Given the description of an element on the screen output the (x, y) to click on. 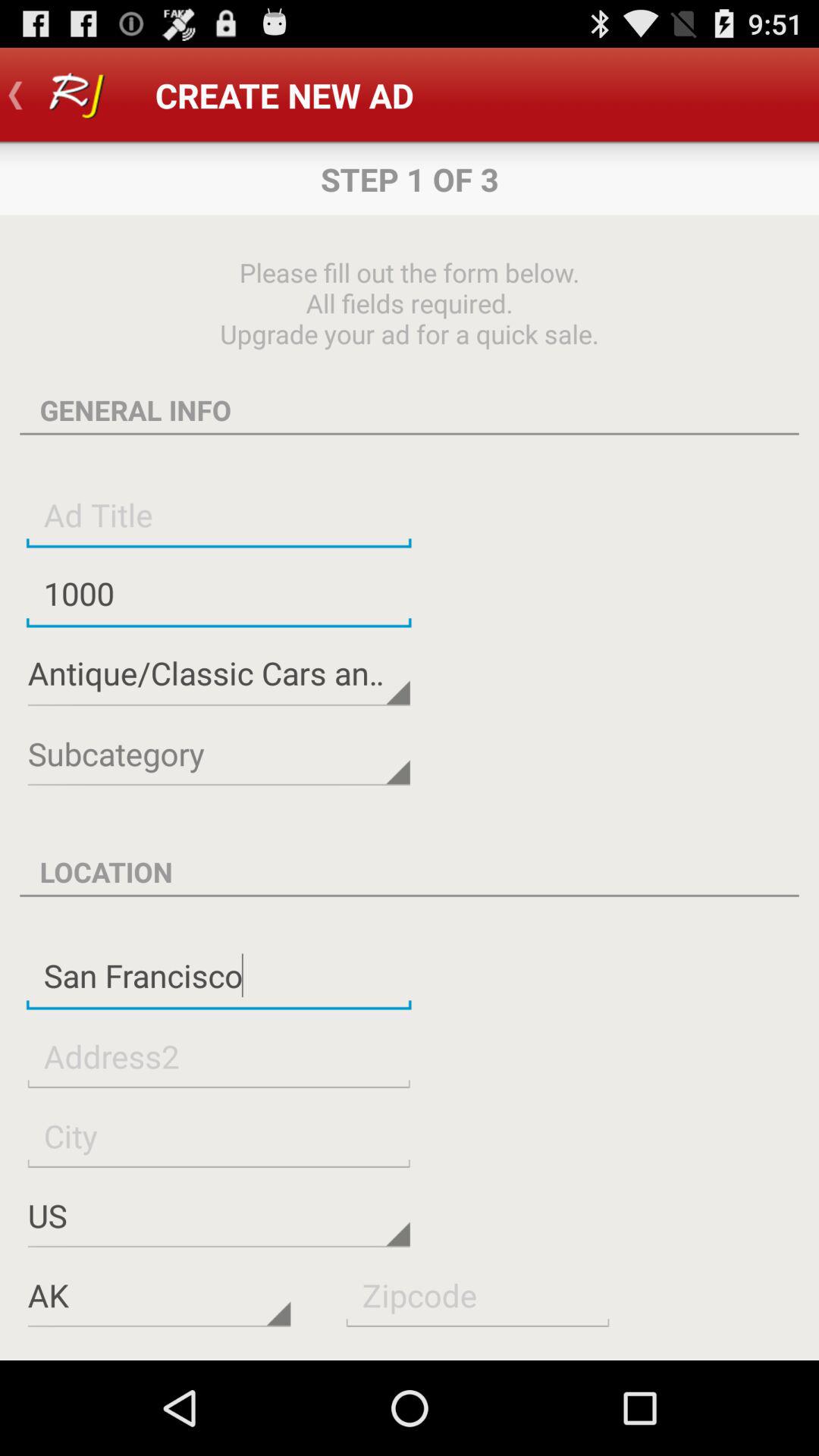
enter city (218, 1135)
